Given the description of an element on the screen output the (x, y) to click on. 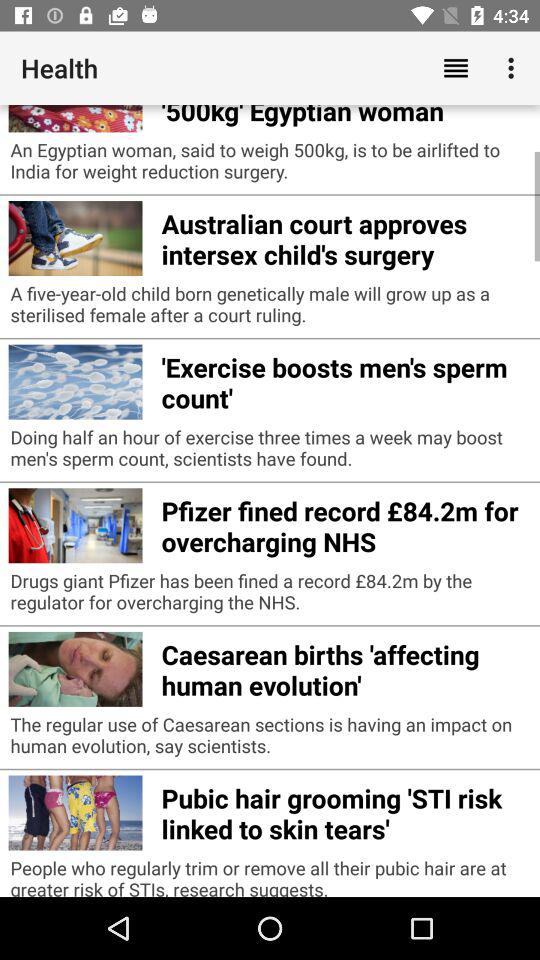
select the icon below the an egyptian woman app (345, 236)
